Given the description of an element on the screen output the (x, y) to click on. 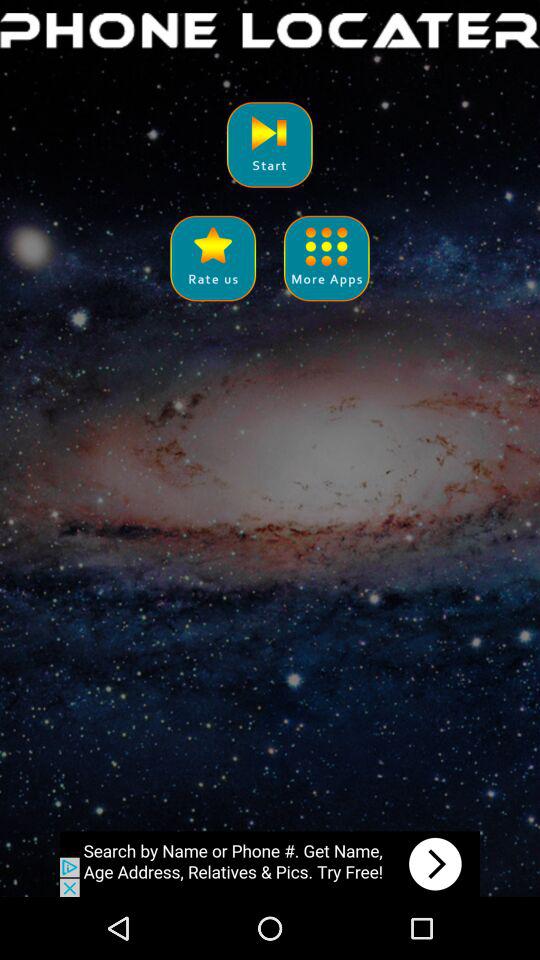
rate the app (212, 258)
